Given the description of an element on the screen output the (x, y) to click on. 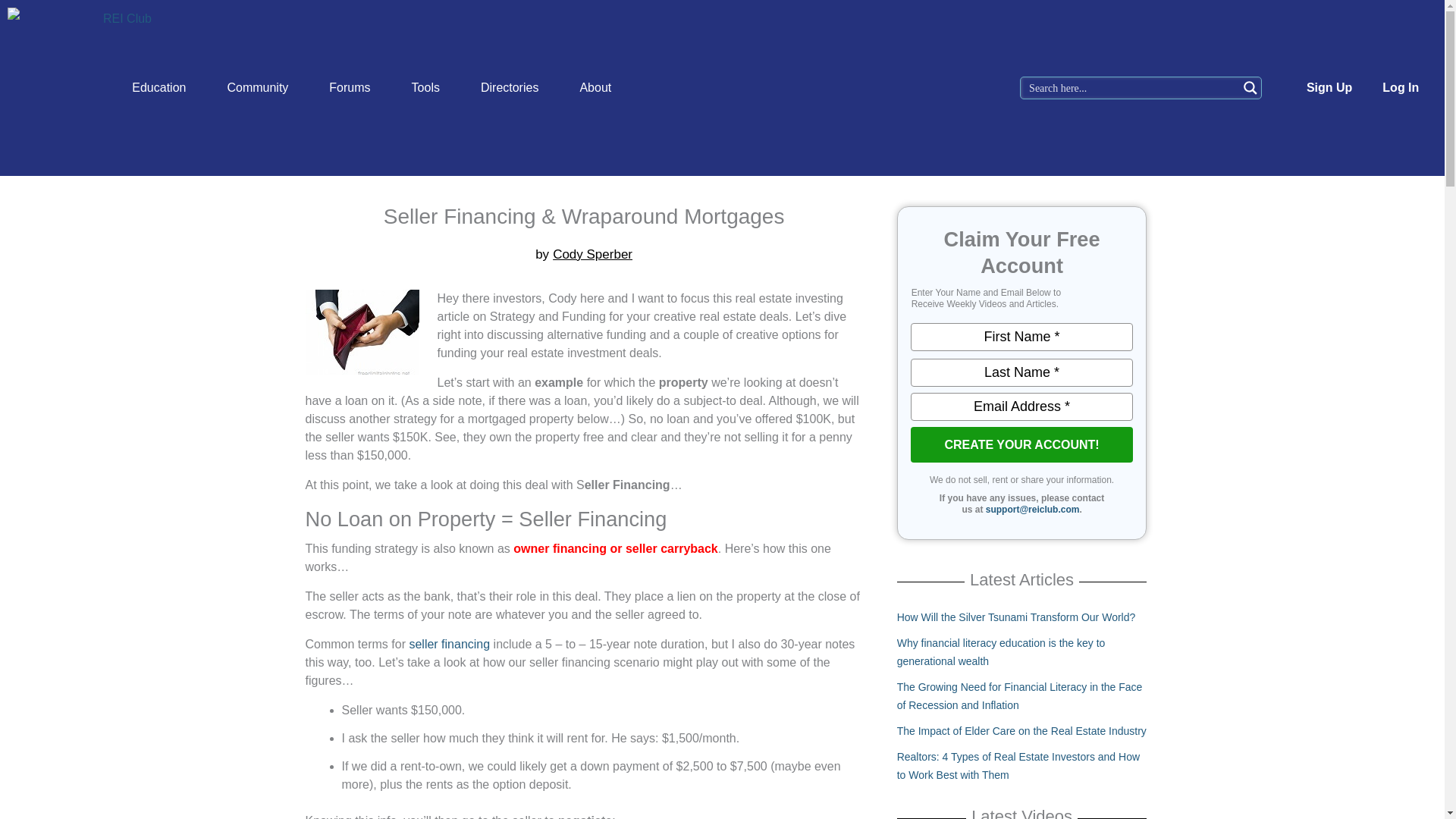
Directories (509, 87)
Tools (425, 87)
Forums (349, 87)
Community (257, 87)
Education (159, 87)
Create Your Account! (1021, 444)
